Given the description of an element on the screen output the (x, y) to click on. 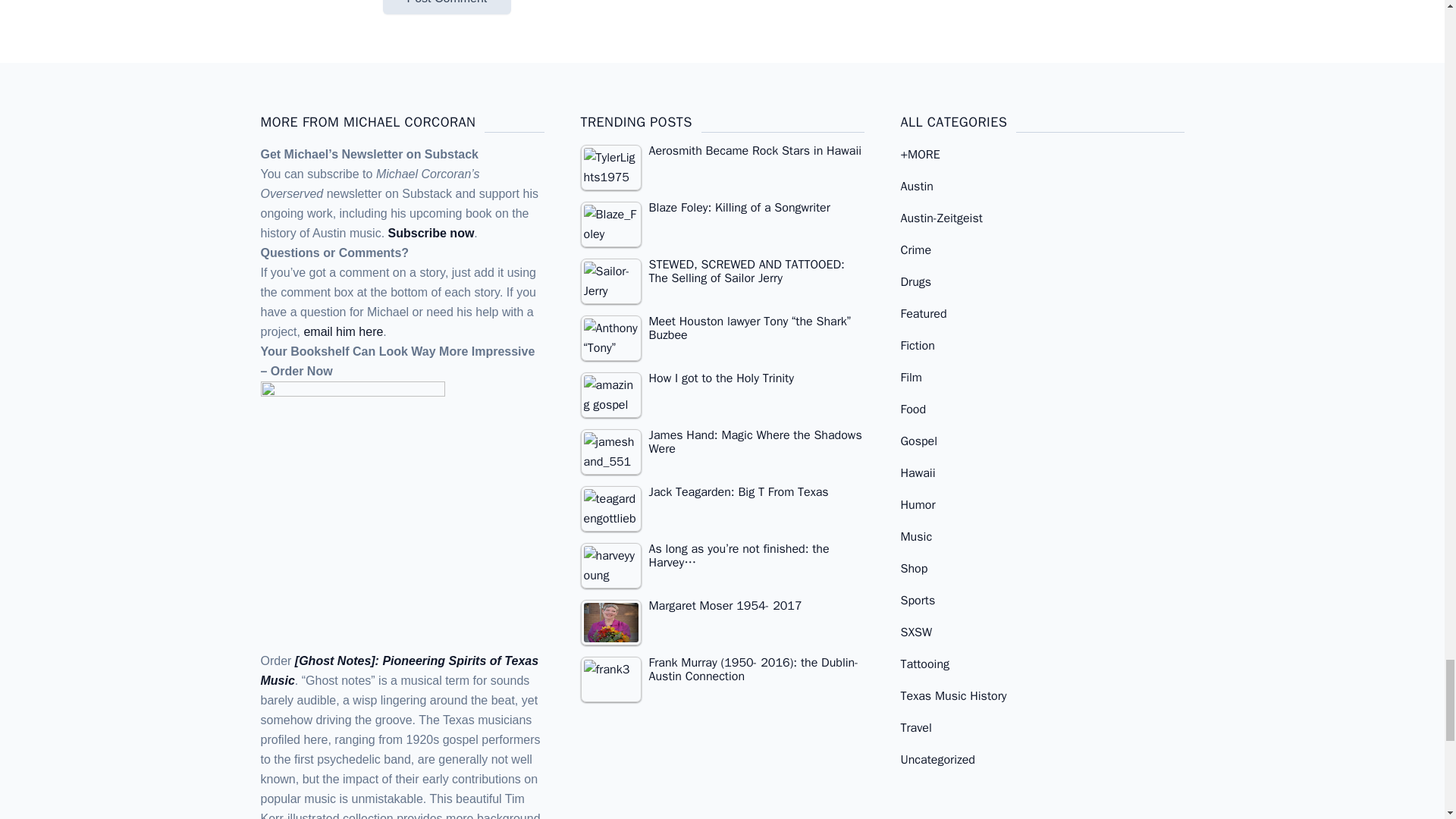
STEWED, SCREWED AND TATTOOED: The Selling of Sailor Jerry (611, 280)
Post Comment (446, 7)
Blaze Foley: Killing of a Songwriter (722, 210)
Aerosmith Became Rock Stars in Hawaii (611, 167)
Aerosmith Became Rock Stars in Hawaii (722, 153)
James Hand: Magic Where the Shadows Were (611, 452)
email him here (342, 331)
Blaze Foley: Killing of a Songwriter (611, 224)
How I got to the Holy Trinity (611, 394)
Subscribe now (431, 232)
Post Comment (446, 7)
Jack Teagarden: Big T From Texas (611, 508)
Meet Houston lawyer Tony "the Shark" Buzbee (611, 338)
